Given the description of an element on the screen output the (x, y) to click on. 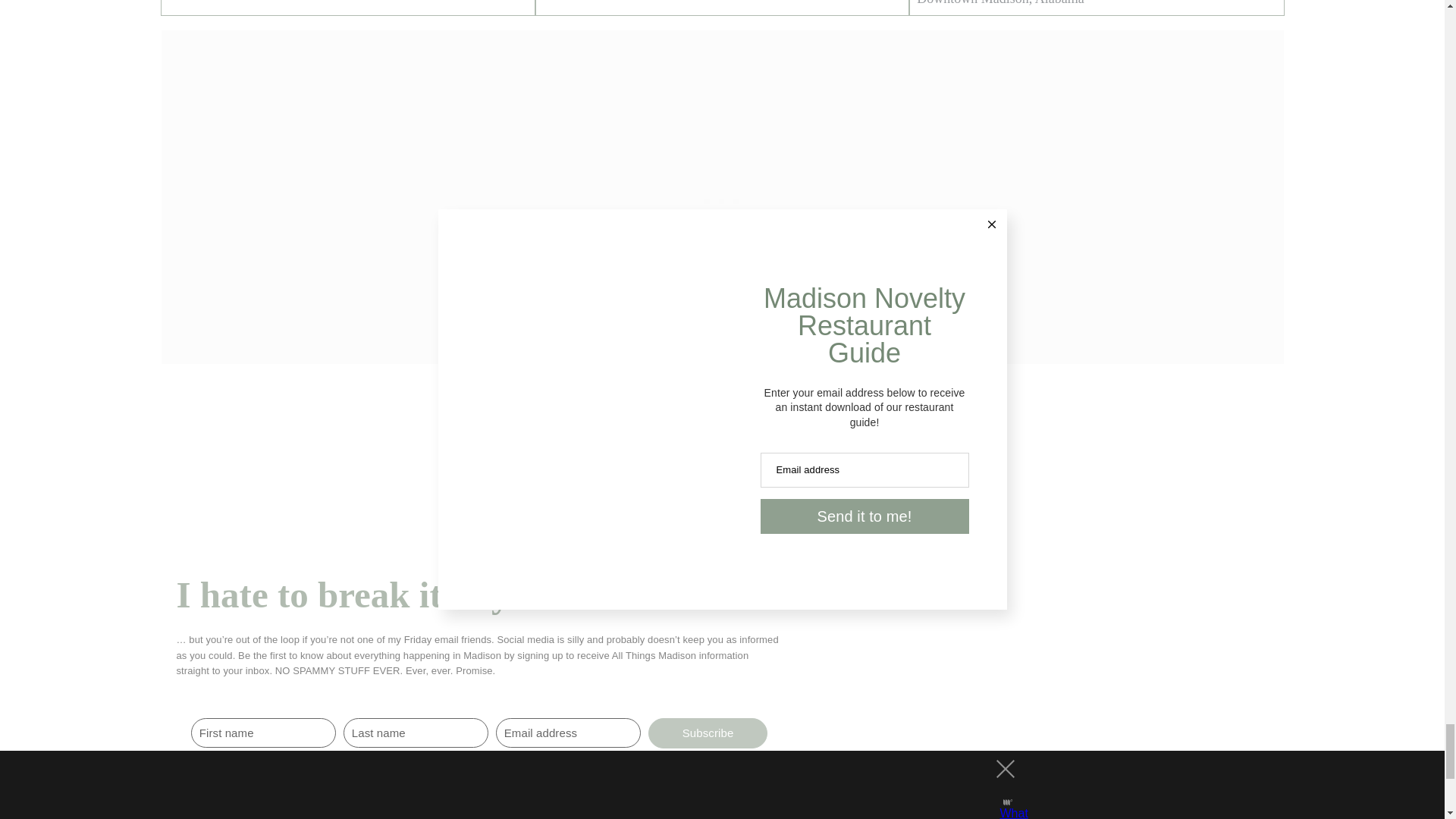
Subscribe (707, 733)
Screen Shot 2024-07-17 at 2.52.52 PM (719, 18)
